Given the description of an element on the screen output the (x, y) to click on. 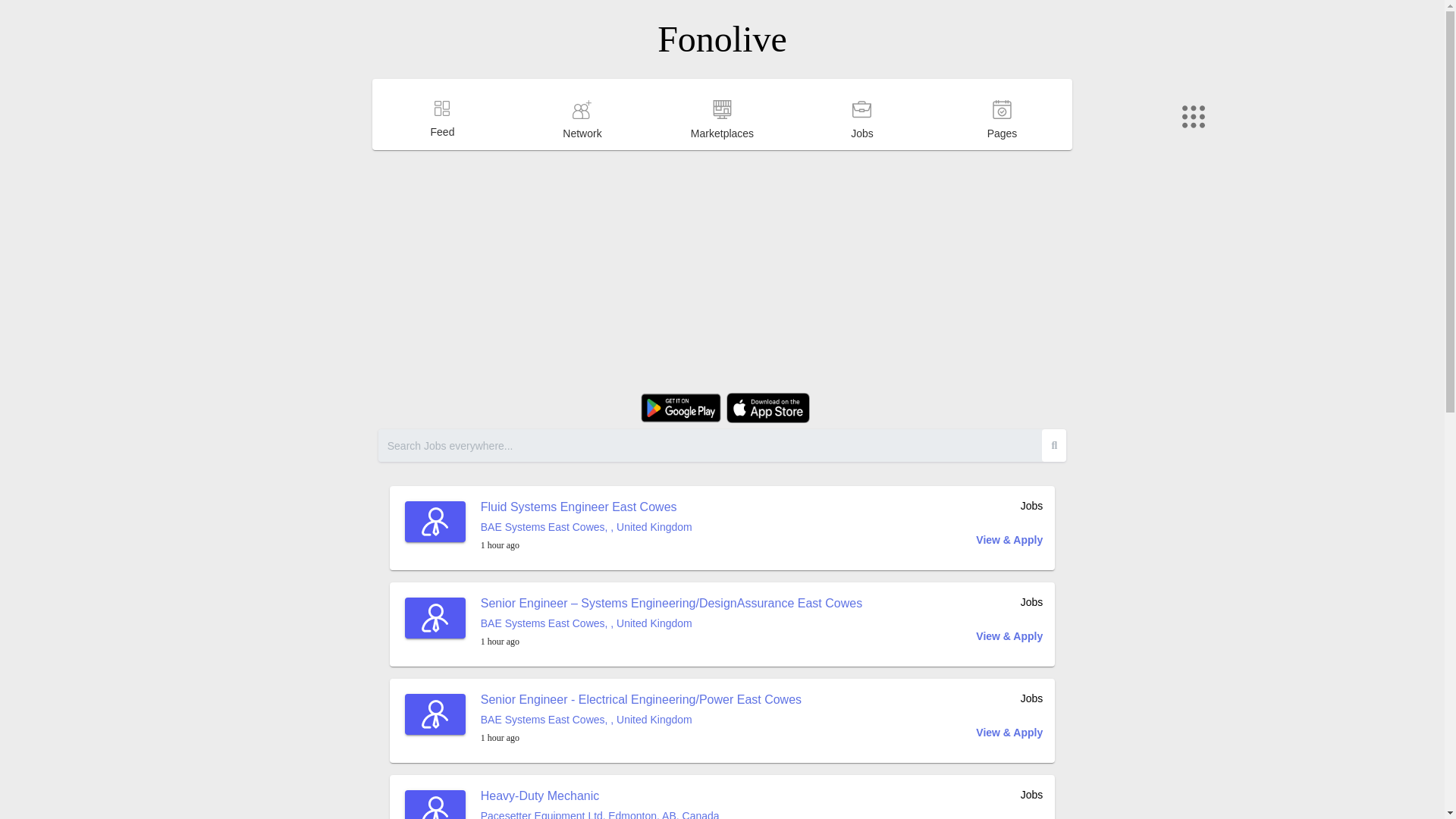
East Cowes, , United Kingdom (620, 623)
East Cowes, , United Kingdom (620, 719)
Feed (442, 147)
BAE Systems (513, 526)
Edmonton, AB, Canada (663, 814)
BAE Systems (513, 623)
Pages (1002, 148)
Network (582, 148)
Heavy-Duty Mechanic (539, 795)
Pacesetter Equipment Ltd. (542, 814)
